Given the description of an element on the screen output the (x, y) to click on. 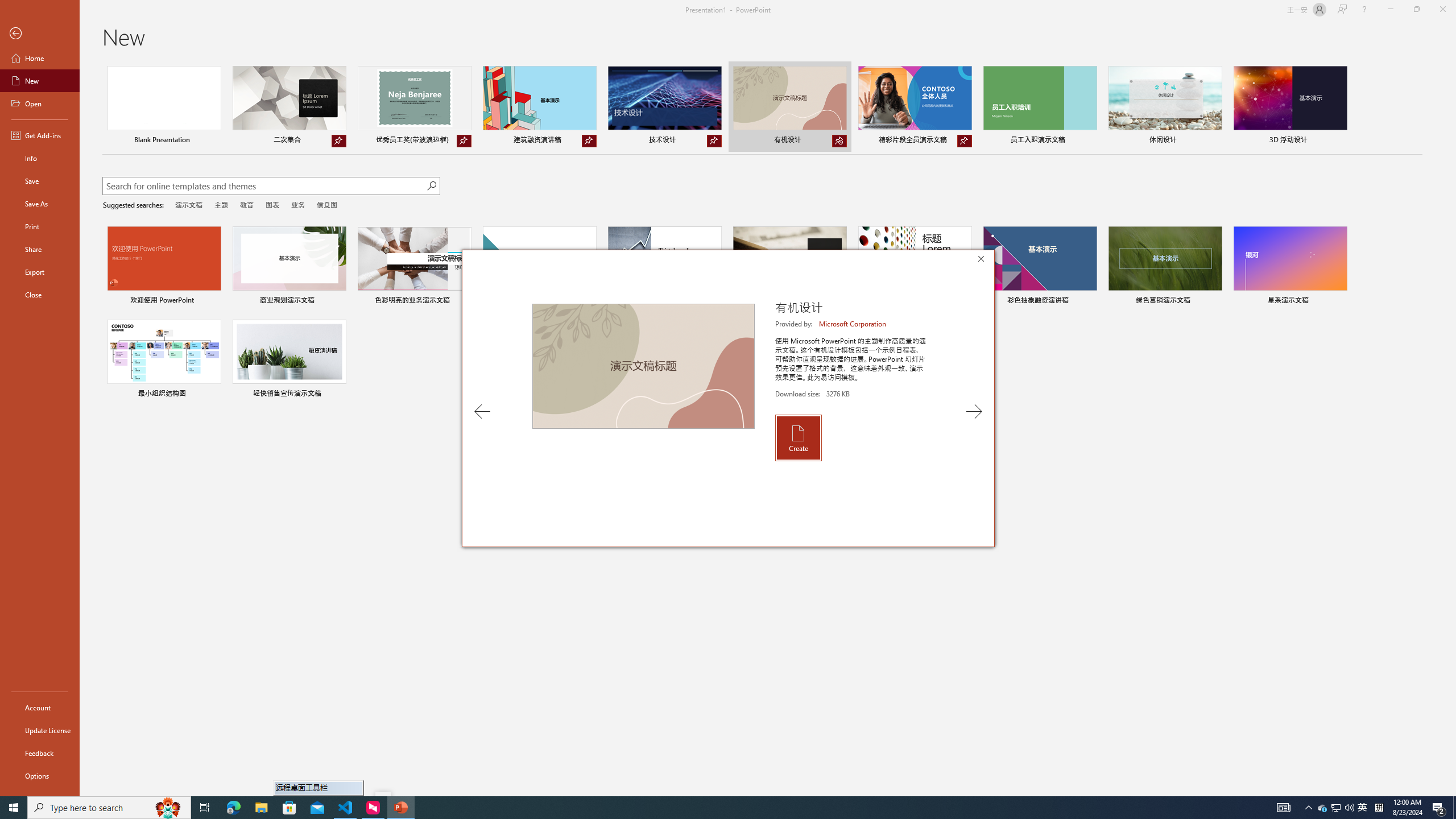
Blank Presentation (164, 106)
Print (40, 225)
Previous Template (481, 411)
